Given the description of an element on the screen output the (x, y) to click on. 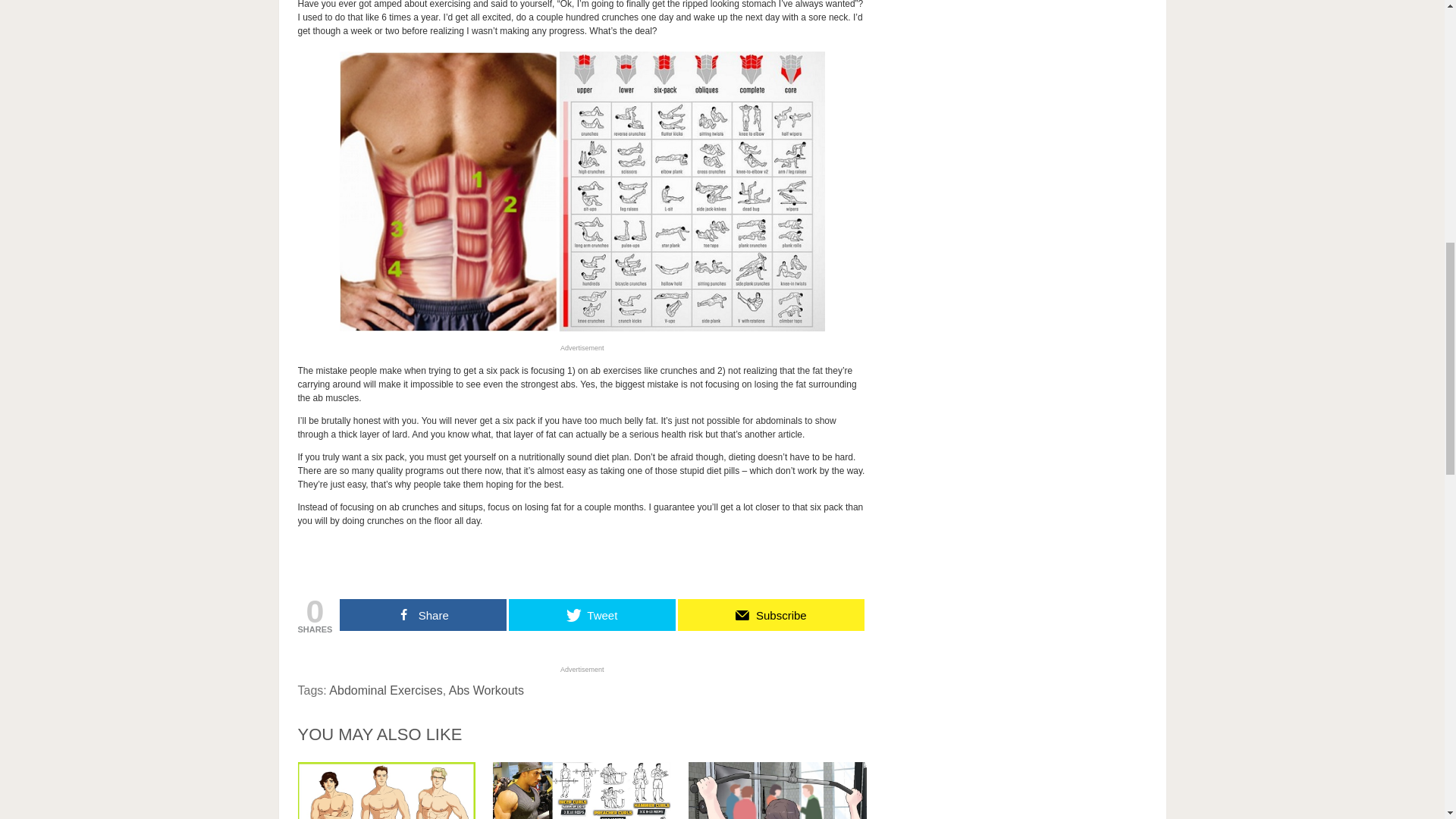
Abs Workouts (486, 689)
Abdominal Exercises (385, 689)
10 Great Tips For Bodybuilding Beginners (386, 790)
Bigger Biceps In A Month By Training Twice A Week (582, 790)
Share (422, 614)
Subscribe (771, 614)
Tweet (591, 614)
